Given the description of an element on the screen output the (x, y) to click on. 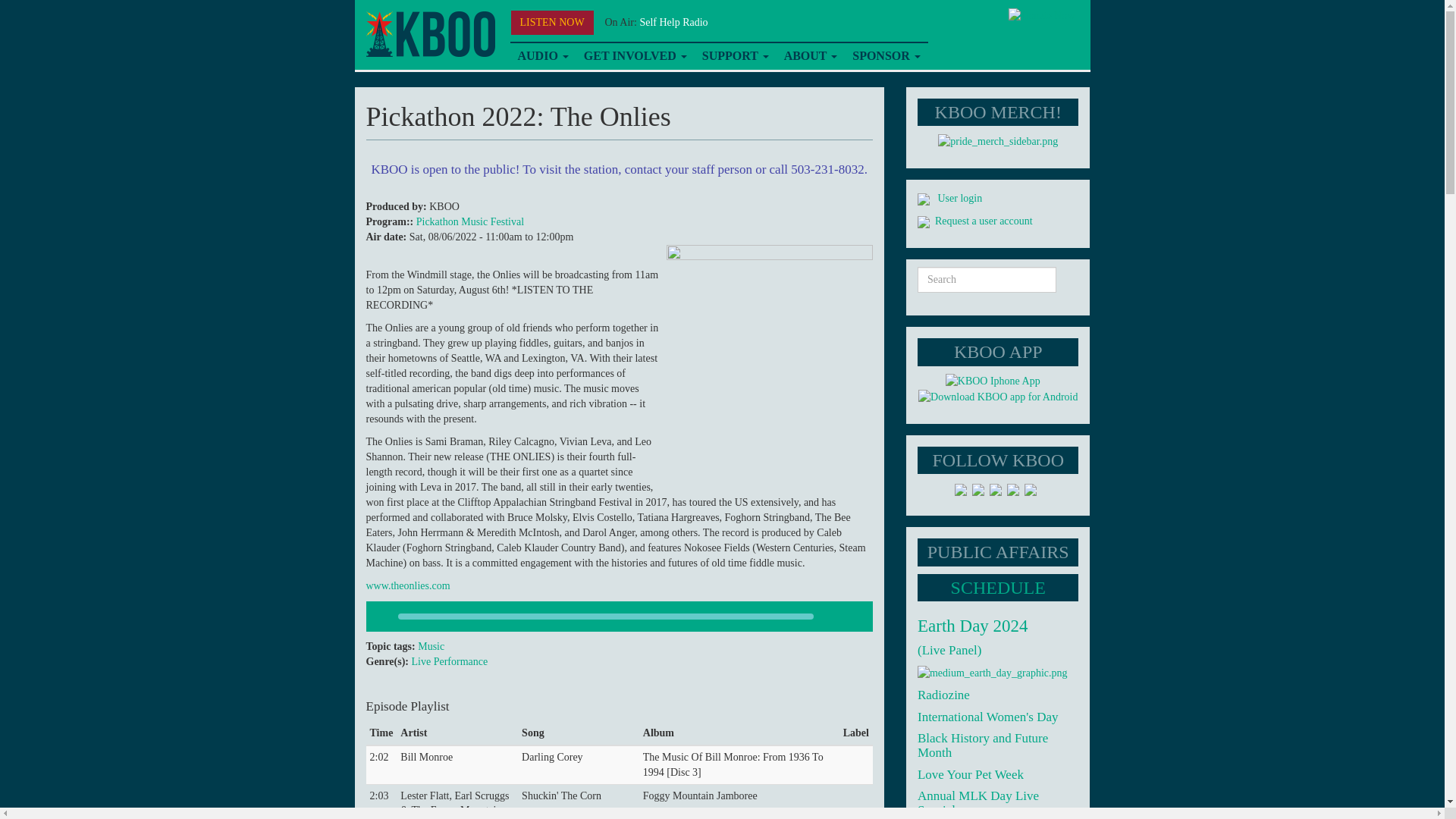
Home (430, 34)
GET INVOLVED (635, 55)
LISTEN NOW (551, 22)
Self Help Radio (673, 21)
SUPPORT (735, 55)
AUDIO (542, 55)
ABOUT (810, 55)
